Given the description of an element on the screen output the (x, y) to click on. 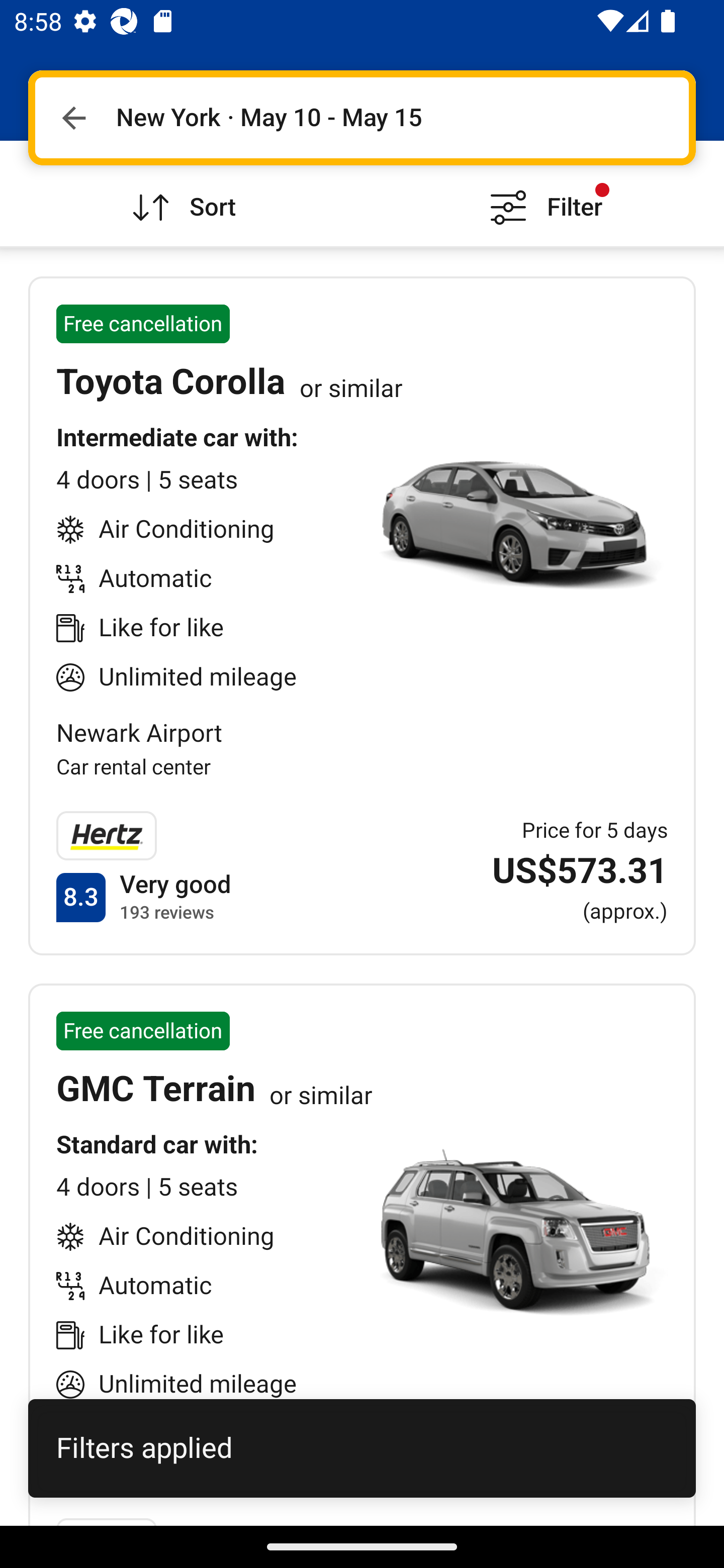
Back to previous screen (73, 117)
Sort (181, 193)
Filter (543, 193)
